Given the description of an element on the screen output the (x, y) to click on. 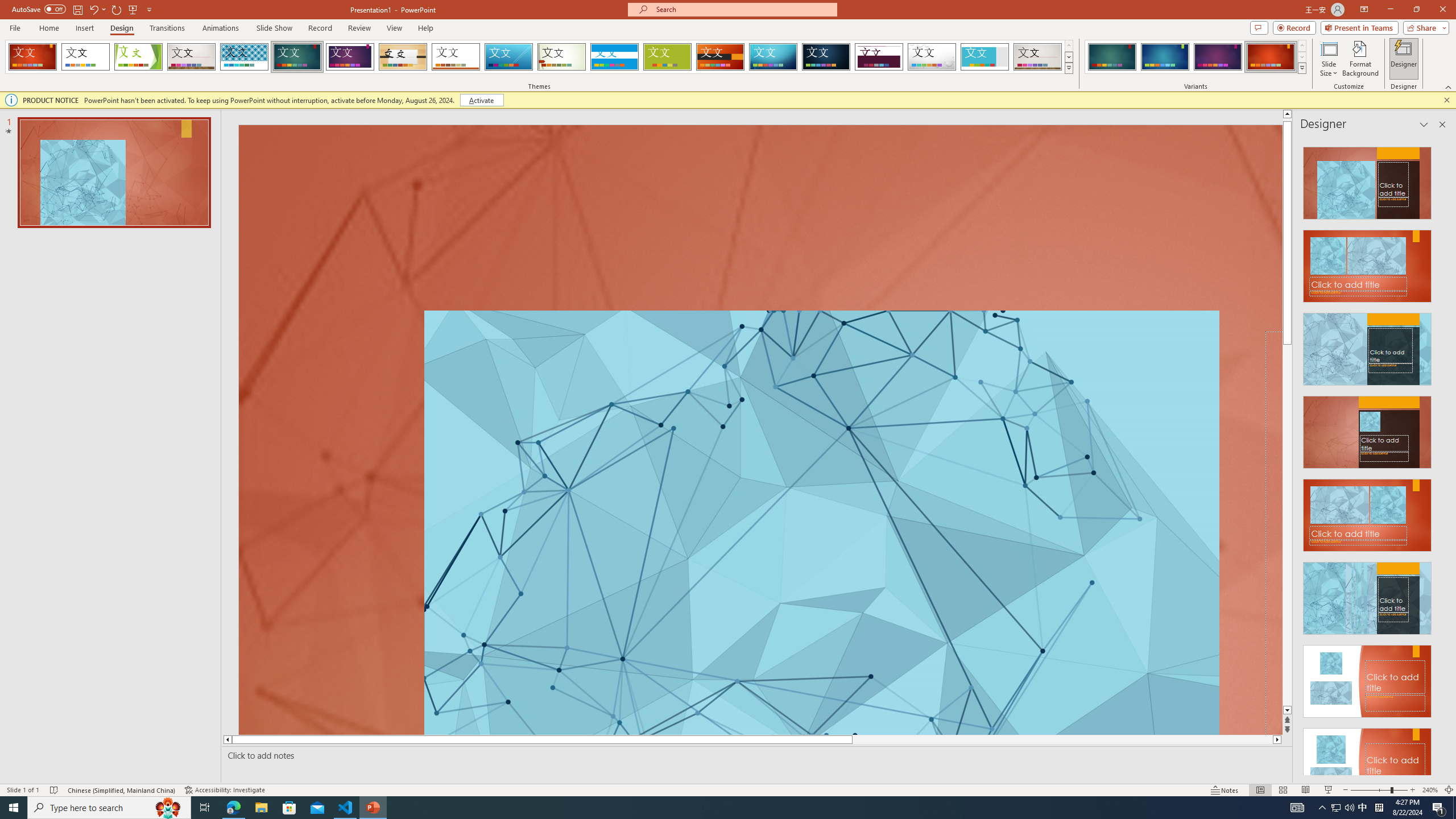
Berlin (720, 56)
Wisp (561, 56)
Banded (614, 56)
